Given the description of an element on the screen output the (x, y) to click on. 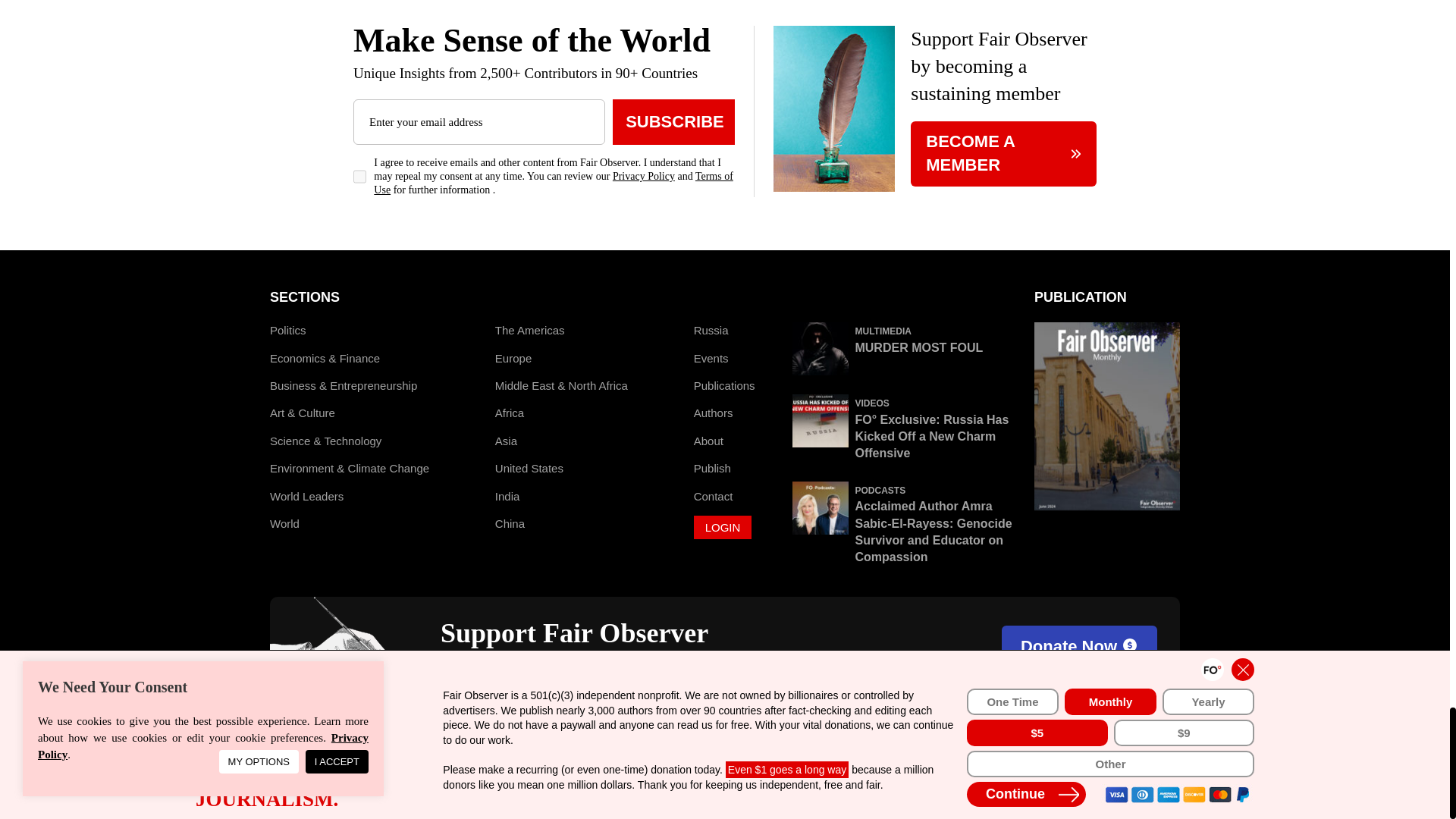
SUBSCRIBE (673, 121)
